Given the description of an element on the screen output the (x, y) to click on. 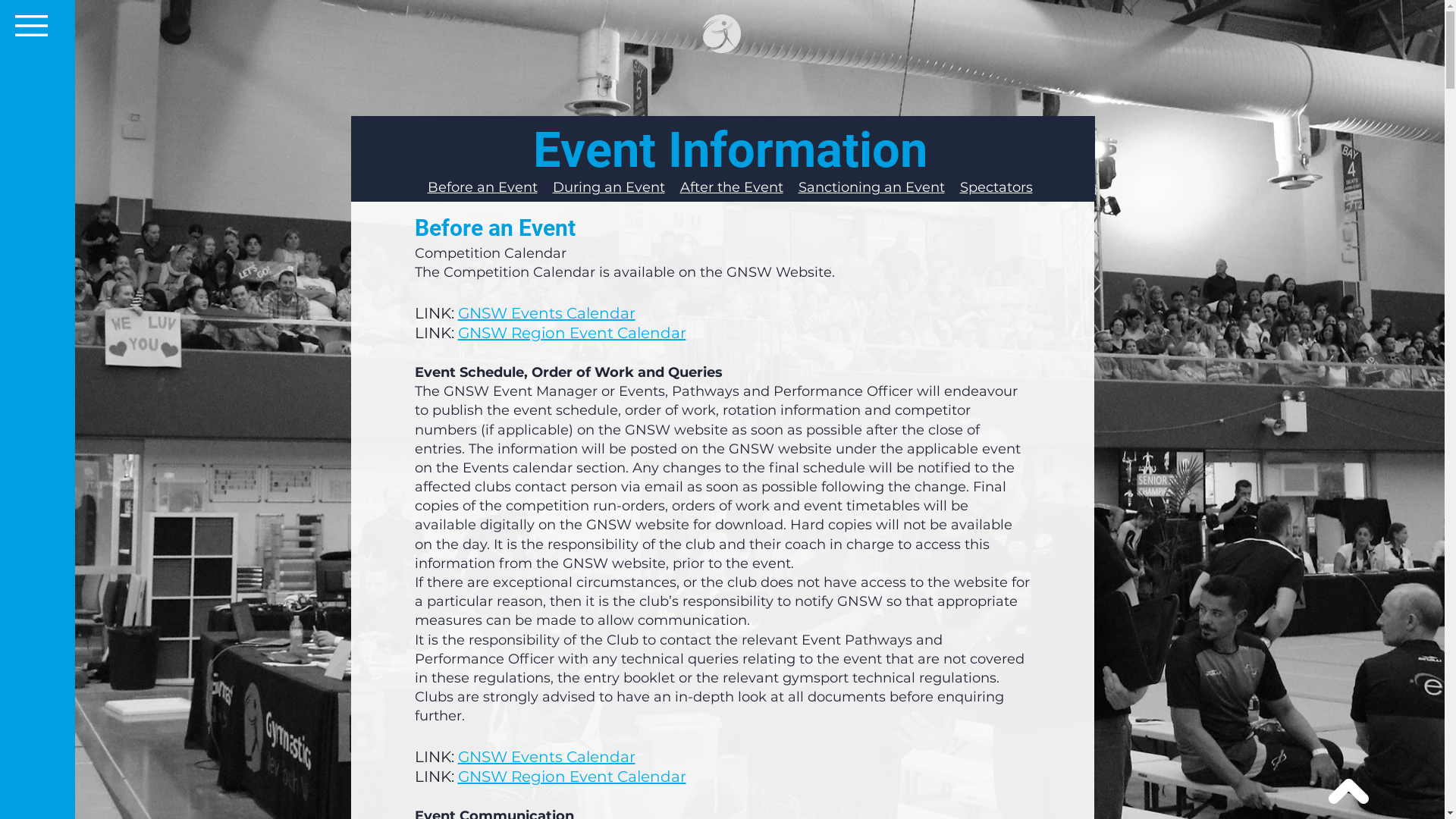
Spectators Element type: text (996, 186)
     Element type: text (952, 186)
GYMNSW_Symbol_W_edited.png Element type: hover (721, 33)
Sanctioning an Event Element type: text (870, 186)
   Element type: text (793, 186)
GNSW Region Event Calendar Element type: text (572, 332)
GNSW Region Event Calendar Element type: text (572, 776)
GNSW Events Calendar Element type: text (546, 756)
During an Event Element type: text (608, 186)
Before an Event Element type: text (482, 186)
After the Event Element type: text (730, 186)
GNSW Events Calendar Element type: text (546, 313)
